Given the description of an element on the screen output the (x, y) to click on. 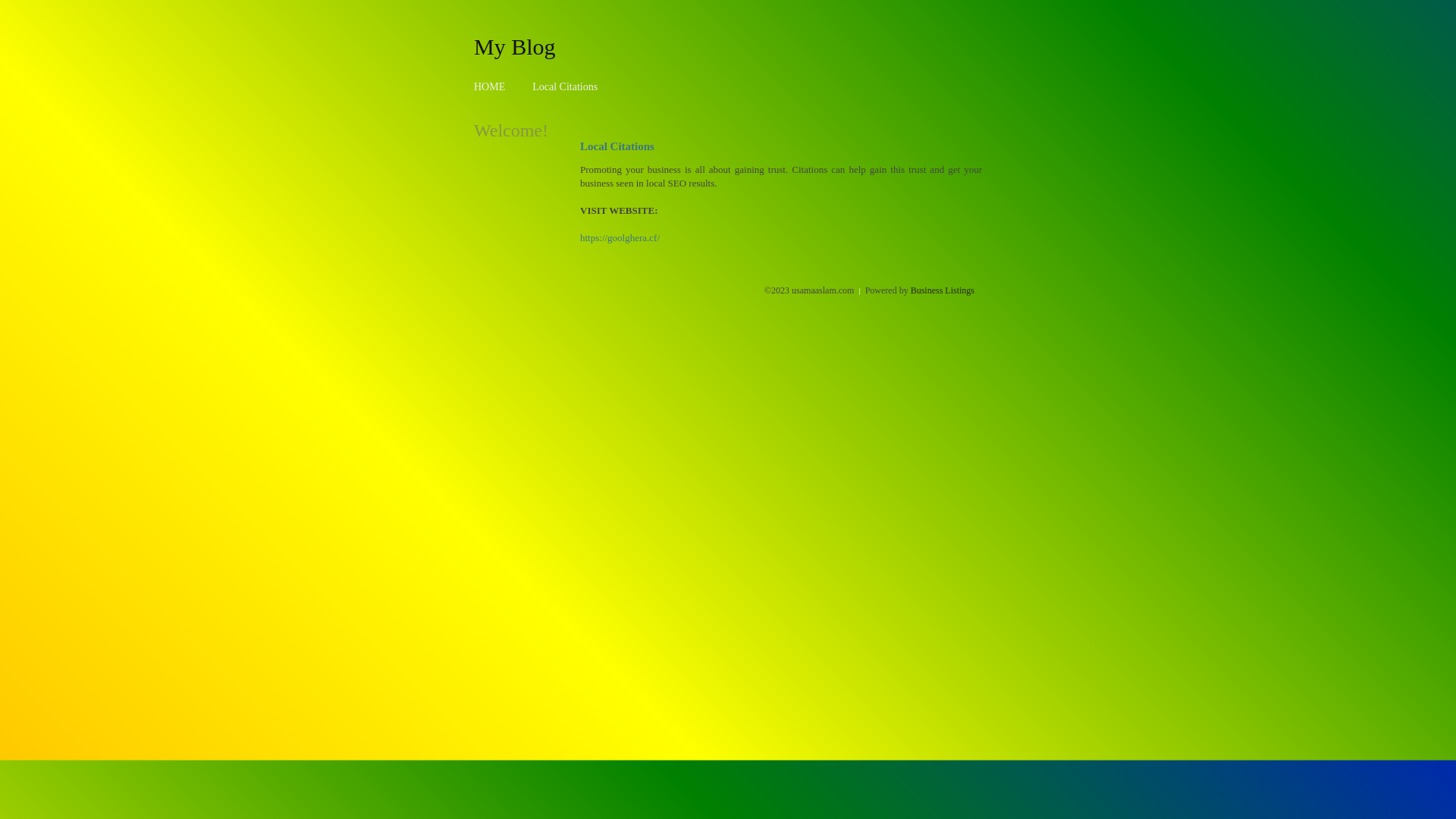
Business Listings Element type: text (942, 290)
My Blog Element type: text (514, 46)
HOME Element type: text (489, 86)
https://goolghera.cf/ Element type: text (619, 237)
Local Citations Element type: text (564, 86)
